Given the description of an element on the screen output the (x, y) to click on. 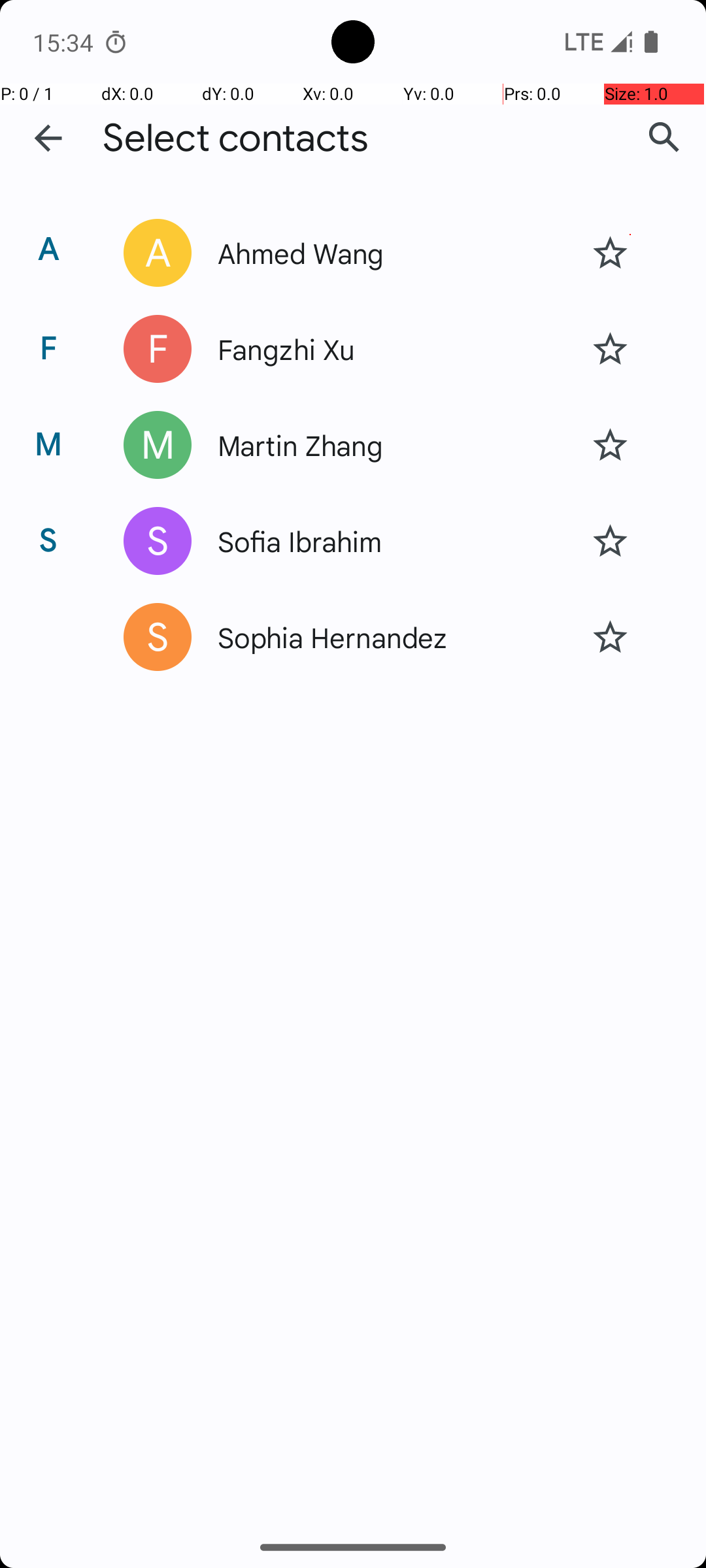
Select contacts Element type: android.widget.TextView (235, 138)
Search contacts Element type: android.widget.Button (664, 137)
Ahmed Wang Element type: android.widget.TextView (392, 252)
Star contact Element type: android.widget.ImageButton (609, 252)
Fangzhi Xu Element type: android.widget.TextView (392, 348)
Martin Zhang Element type: android.widget.TextView (392, 444)
Sofia Ibrahim Element type: android.widget.TextView (392, 540)
Sophia Hernandez Element type: android.widget.TextView (392, 636)
